Given the description of an element on the screen output the (x, y) to click on. 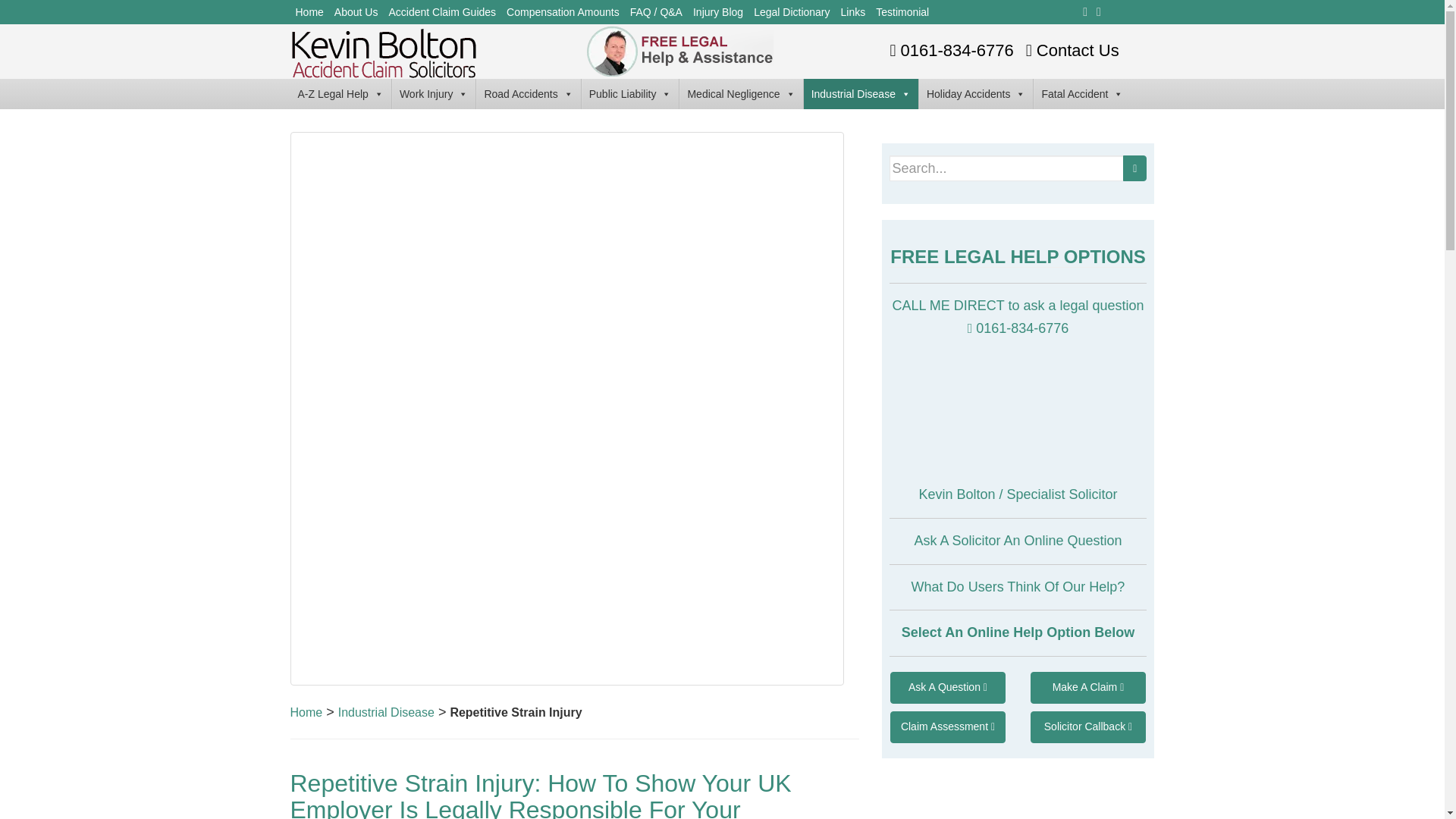
Links (852, 12)
Accident Claim Guides (441, 12)
Testimonial (902, 12)
0161-834-6776 (949, 49)
Legal Dictionary (791, 12)
Injury Blog (717, 12)
Home (309, 12)
Testimonial (902, 12)
Legal Dictionary (791, 12)
